Given the description of an element on the screen output the (x, y) to click on. 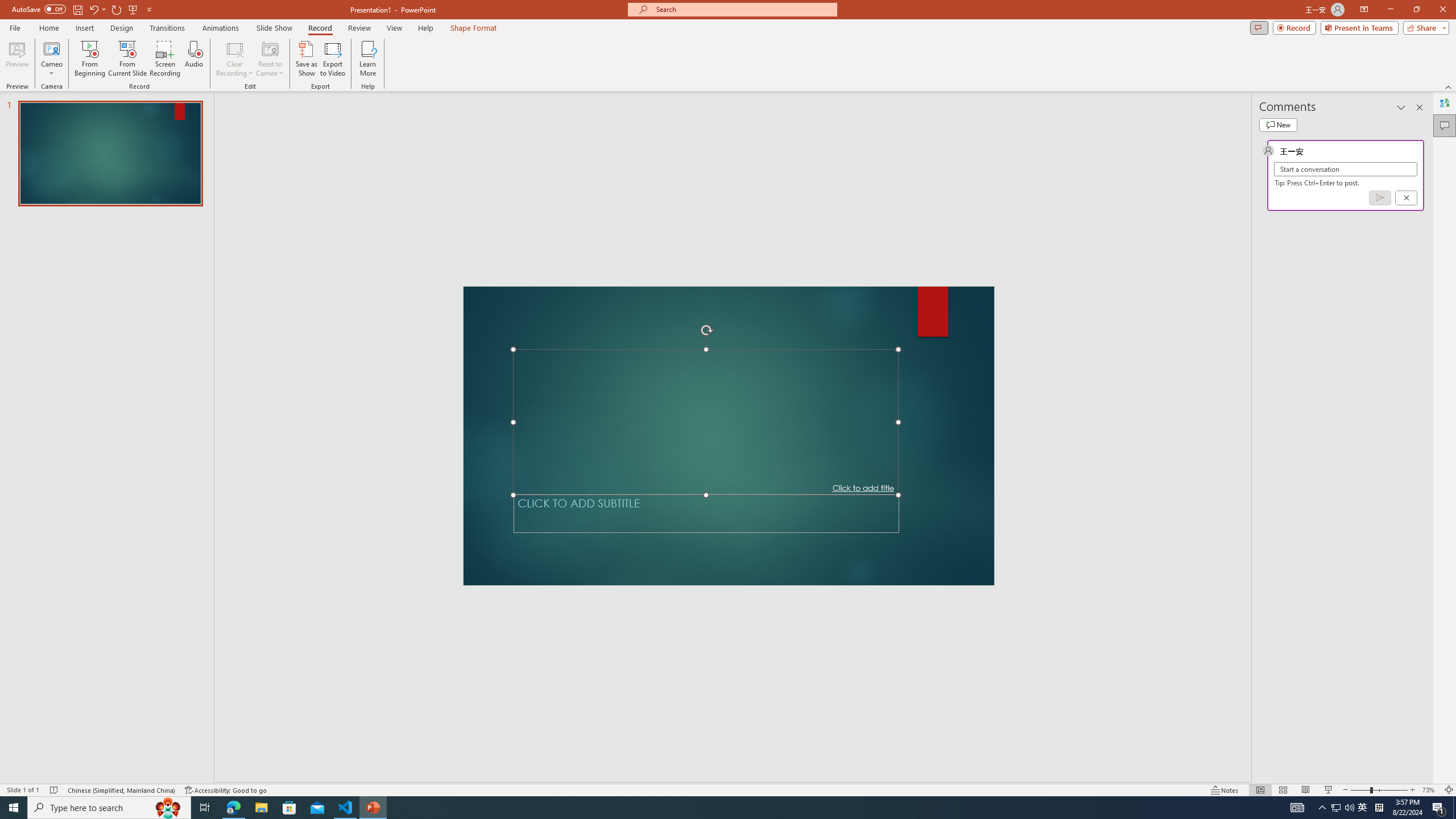
New comment (1278, 124)
Translator (1444, 102)
Shape Format (473, 28)
Learn More (368, 58)
Zoom 73% (1430, 790)
